Given the description of an element on the screen output the (x, y) to click on. 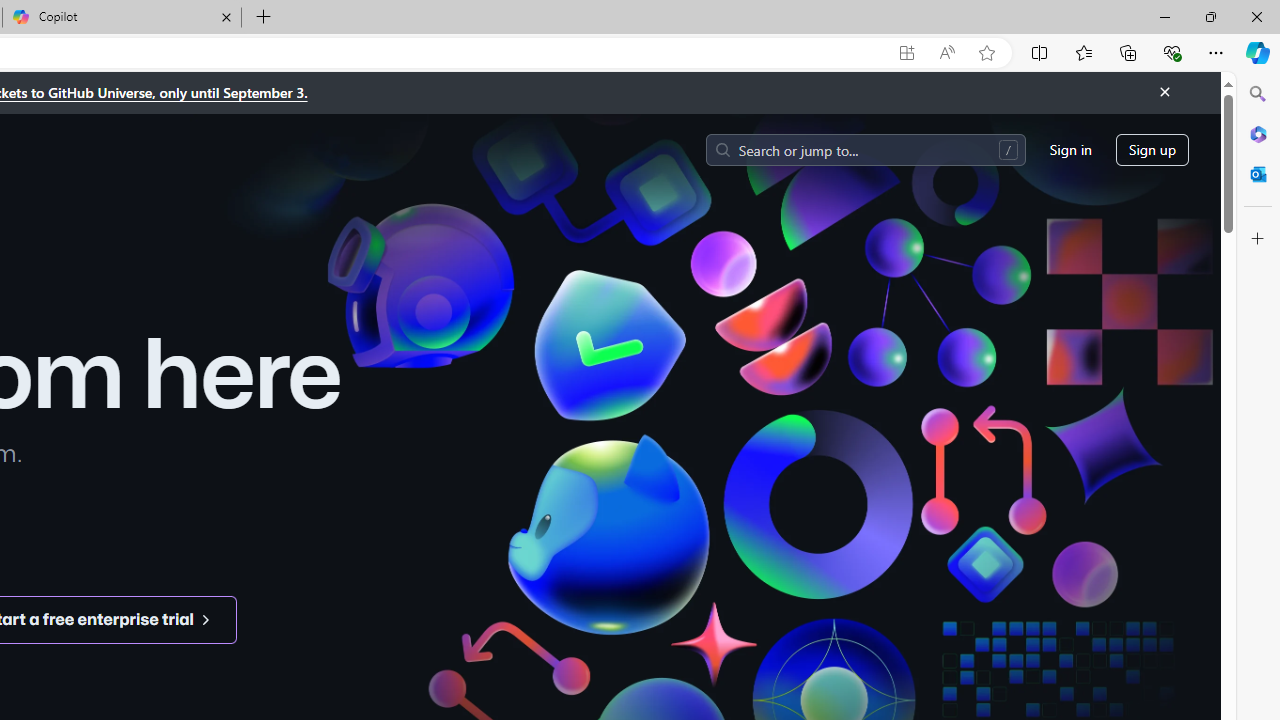
Class: octicon arrow-symbol-mktg (205, 619)
